Given the description of an element on the screen output the (x, y) to click on. 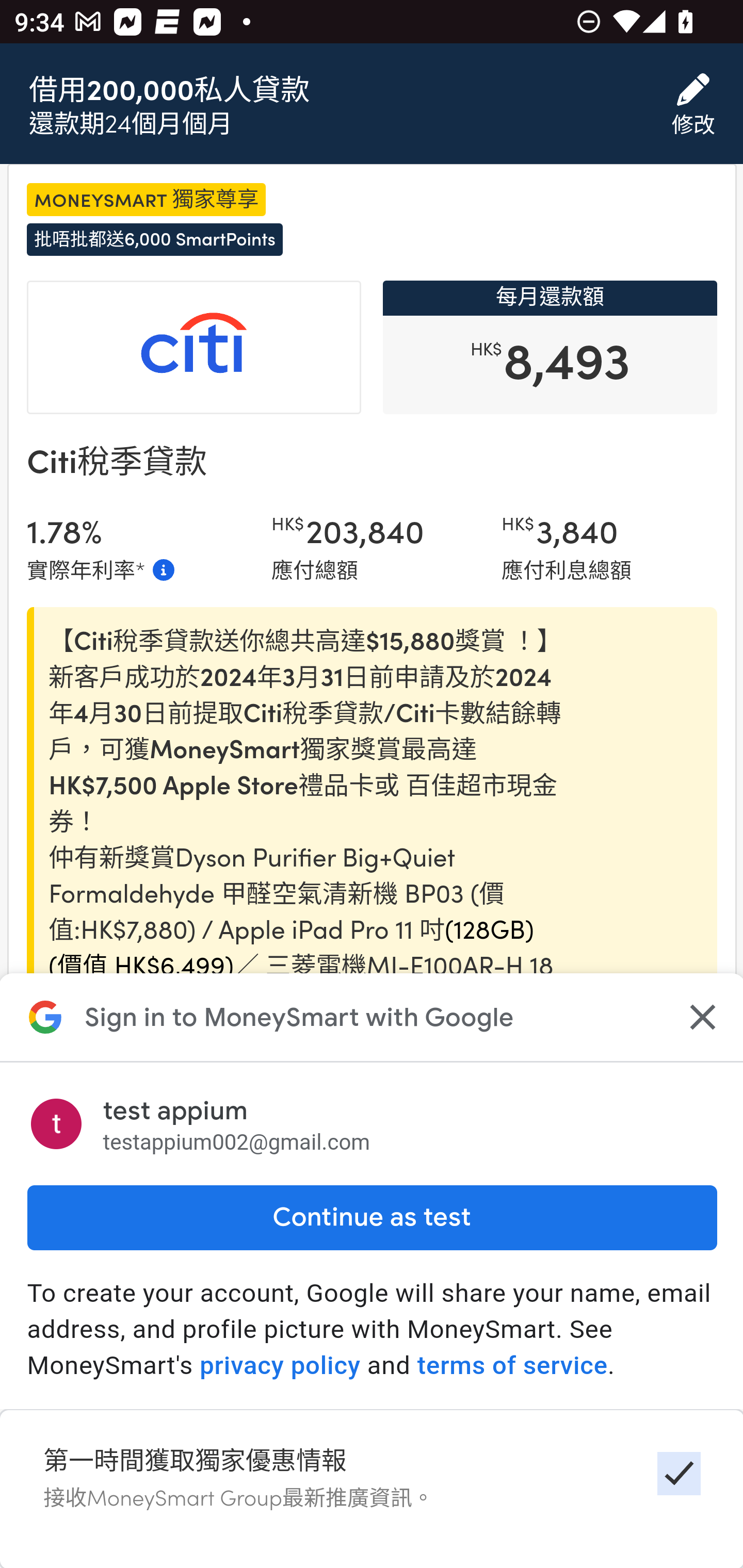
修改 (692, 104)
Citibank 花旗銀行 logo (193, 348)
Citi稅季貸款 (116, 461)
Close (700, 1017)
Continue as test (371, 1217)
privacy policy (279, 1365)
terms of service (511, 1365)
